Given the description of an element on the screen output the (x, y) to click on. 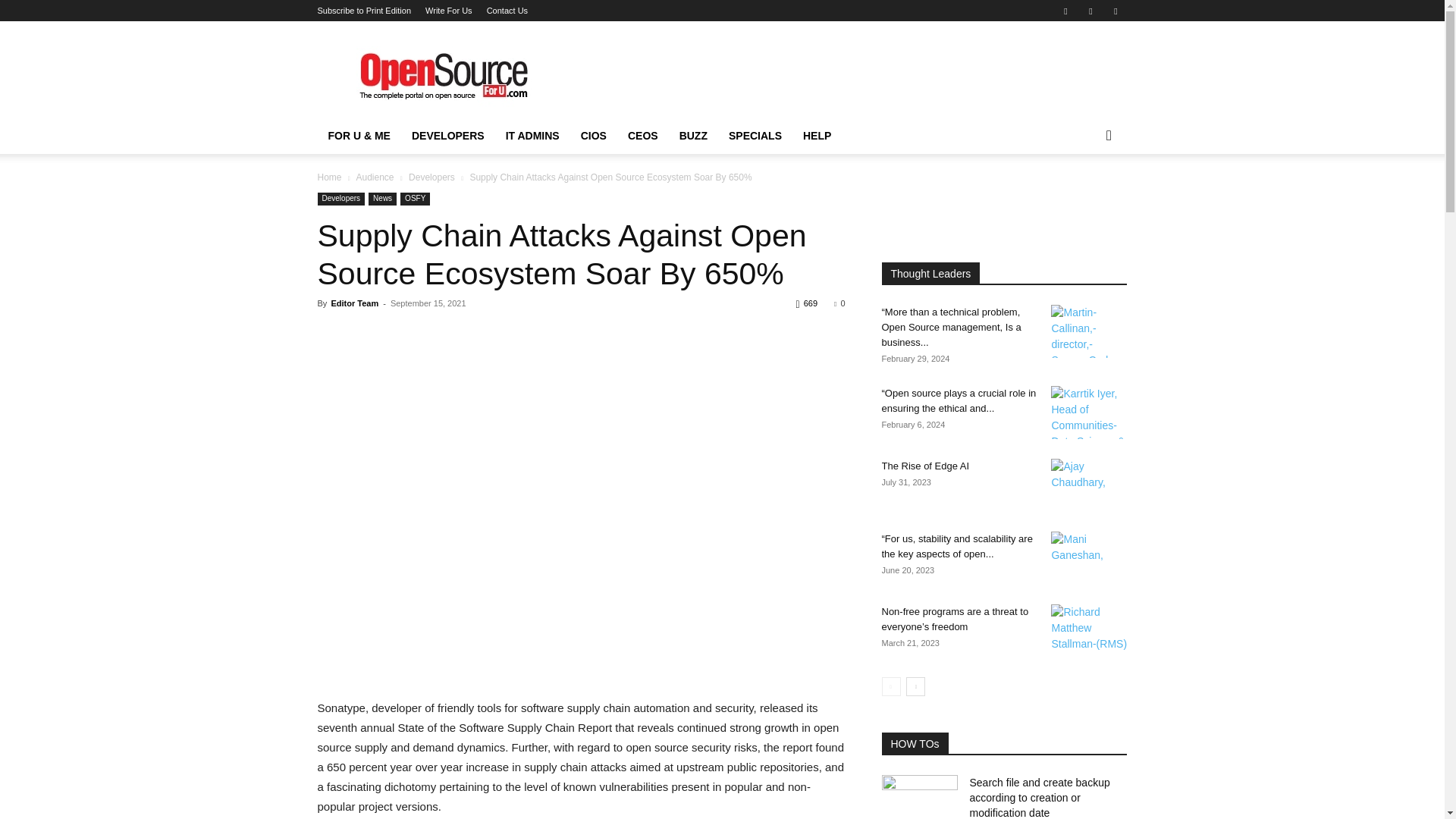
Twitter (1114, 10)
Facebook (1065, 10)
Write For Us (448, 10)
Subscribe to Print Edition (363, 10)
Contact Us (506, 10)
Linkedin (1090, 10)
